Given the description of an element on the screen output the (x, y) to click on. 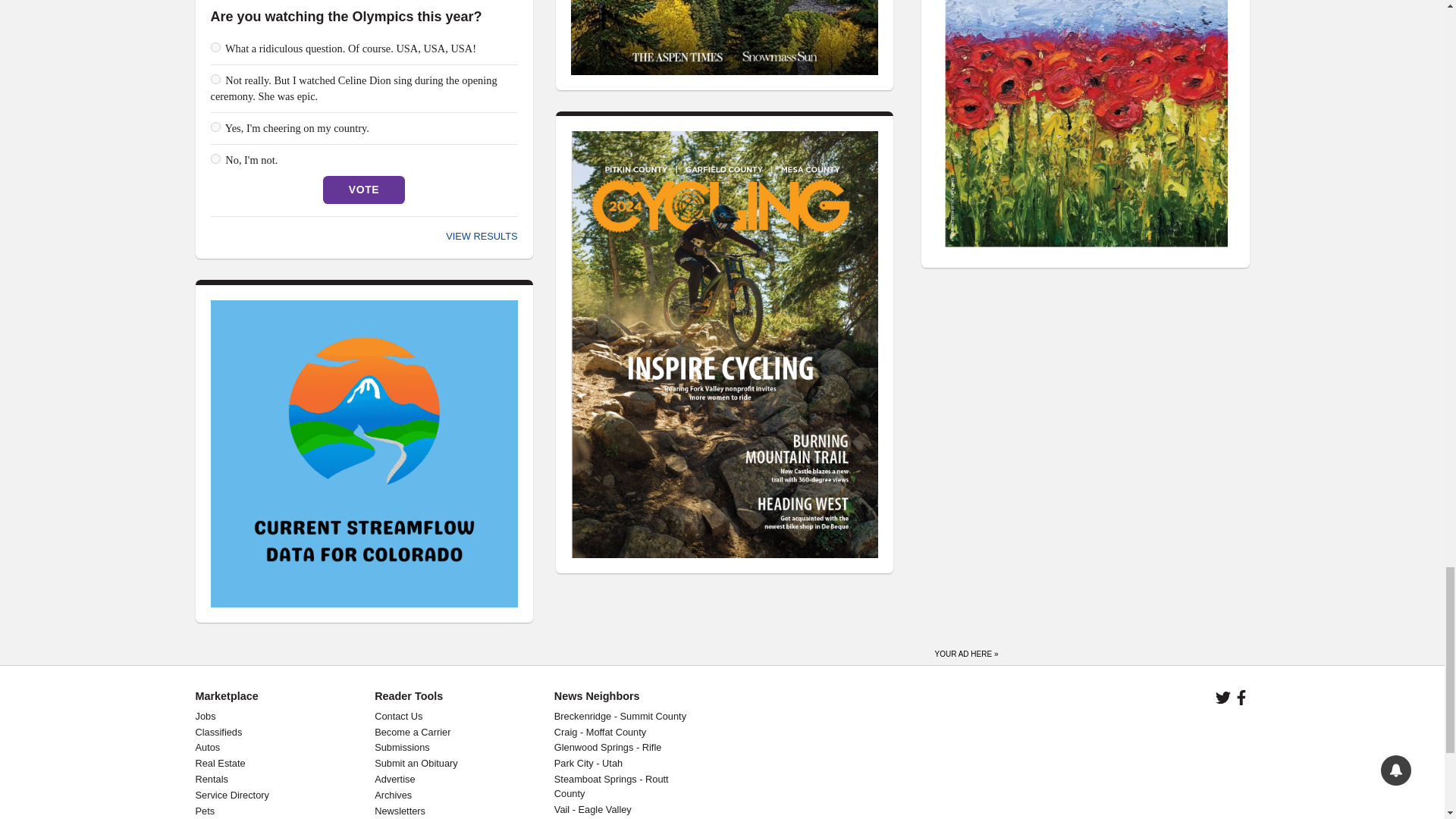
1548 (216, 47)
Your Ad Here (966, 650)
1550 (216, 126)
   Vote    (363, 189)
1549 (216, 79)
1551 (216, 158)
View Results Of This Poll (480, 235)
